Given the description of an element on the screen output the (x, y) to click on. 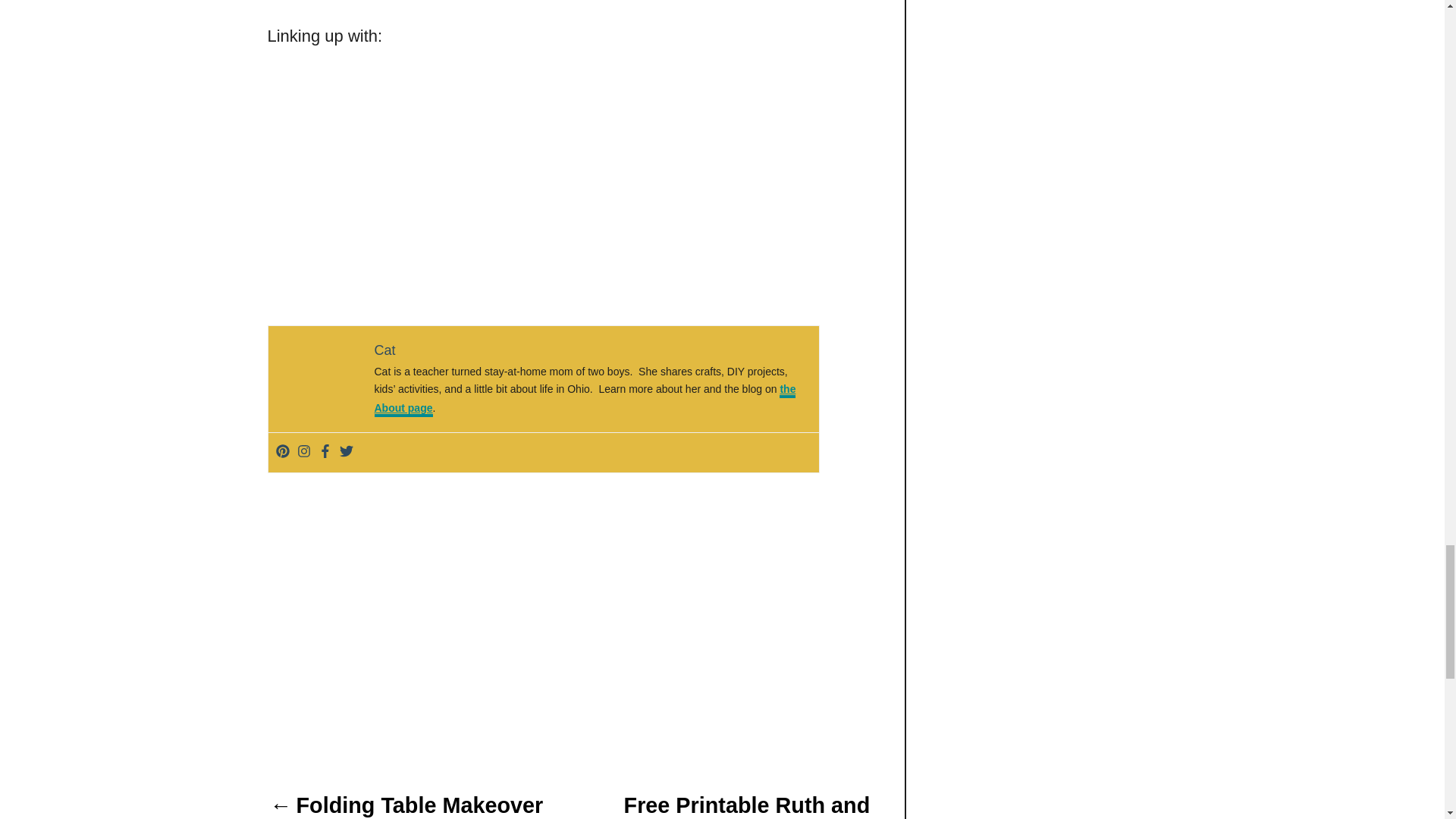
the About page (585, 400)
Folding Table Makeover (405, 803)
Free Printable Ruth and Naomi Activities (746, 803)
Cat (385, 350)
